Given the description of an element on the screen output the (x, y) to click on. 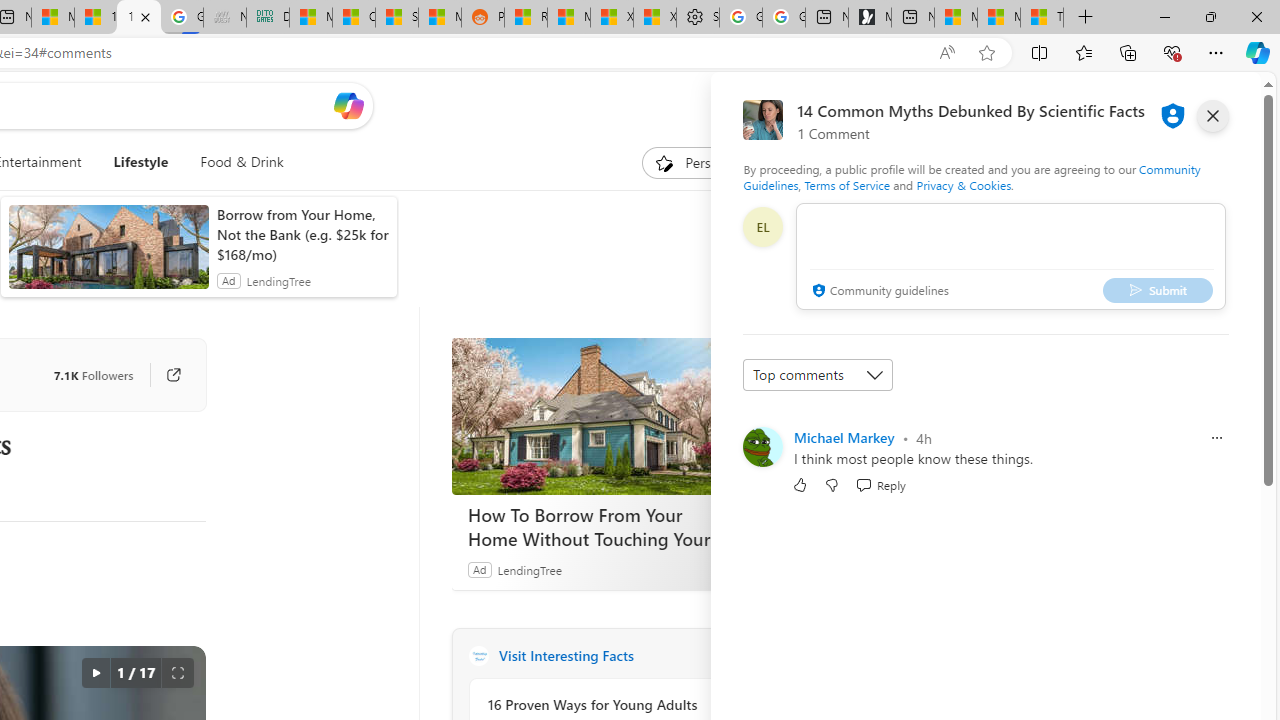
Like (799, 484)
anim-content (107, 255)
Terms of Service (846, 184)
